Given the description of an element on the screen output the (x, y) to click on. 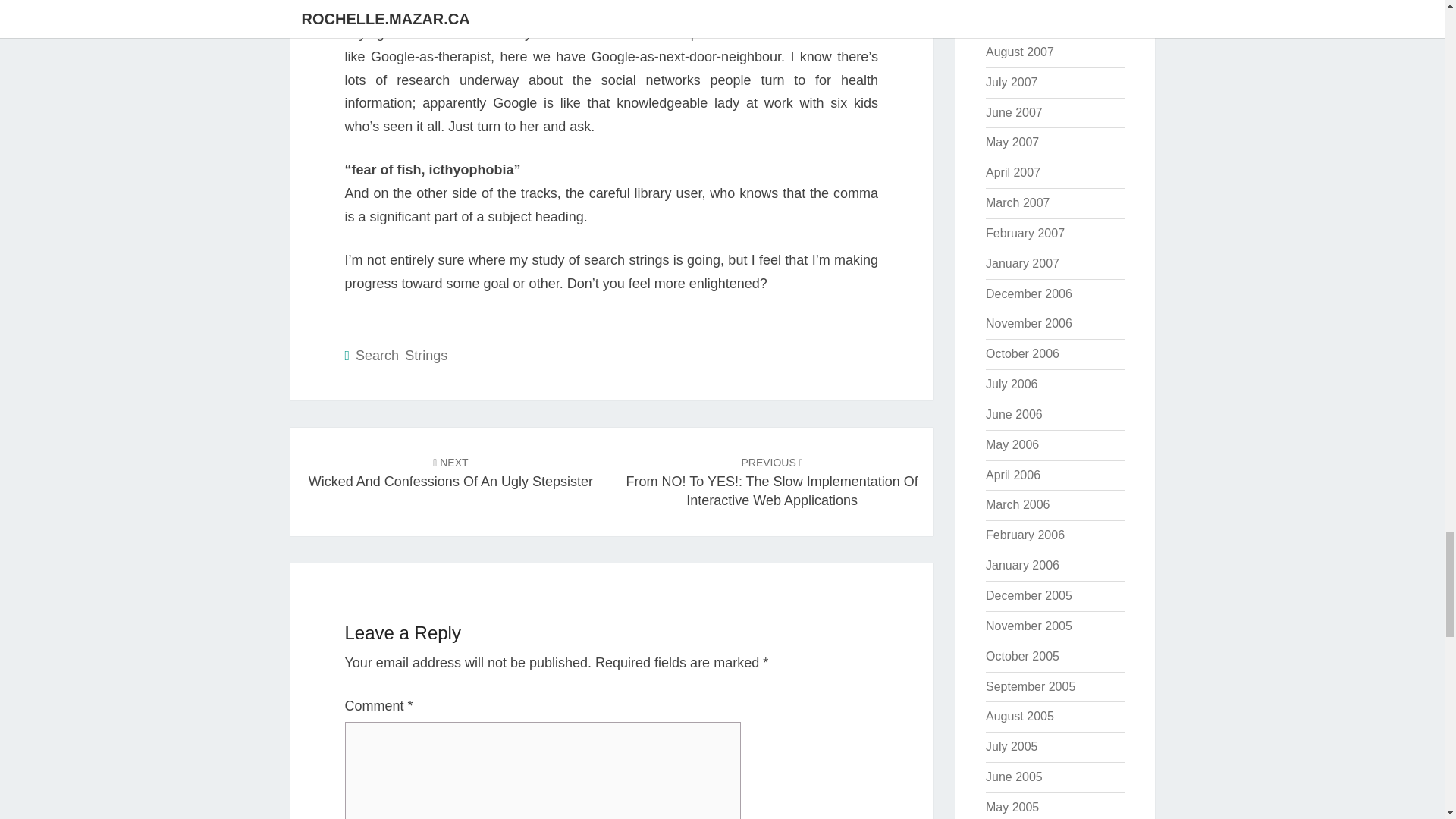
Search Strings (450, 471)
